Given the description of an element on the screen output the (x, y) to click on. 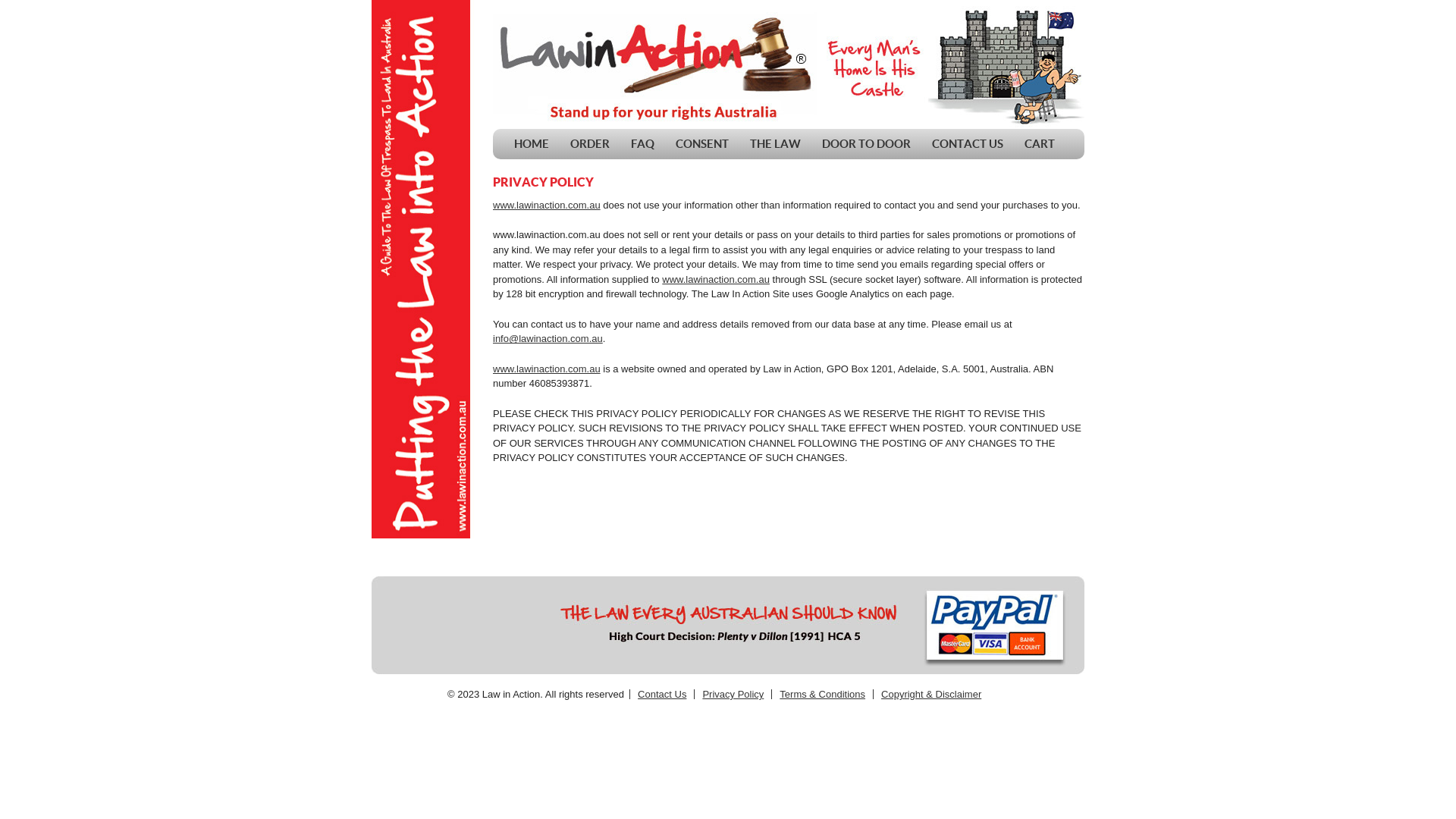
FAQ Element type: text (642, 143)
www.lawinaction.com.au Element type: text (546, 204)
Terms & Conditions Element type: text (822, 693)
Privacy Policy Element type: text (732, 693)
www.lawinaction.com.au Element type: text (546, 368)
www.lawinaction.com.au Element type: text (715, 279)
CONTACT US Element type: text (967, 143)
HOME Element type: text (531, 143)
THE LAW Element type: text (774, 143)
info@lawinaction.com.au Element type: text (547, 338)
Copyright & Disclaimer Element type: text (931, 693)
ORDER Element type: text (589, 143)
Contact Us Element type: text (661, 693)
CONSENT Element type: text (701, 143)
CART Element type: text (1039, 143)
DOOR TO DOOR Element type: text (866, 143)
